Given the description of an element on the screen output the (x, y) to click on. 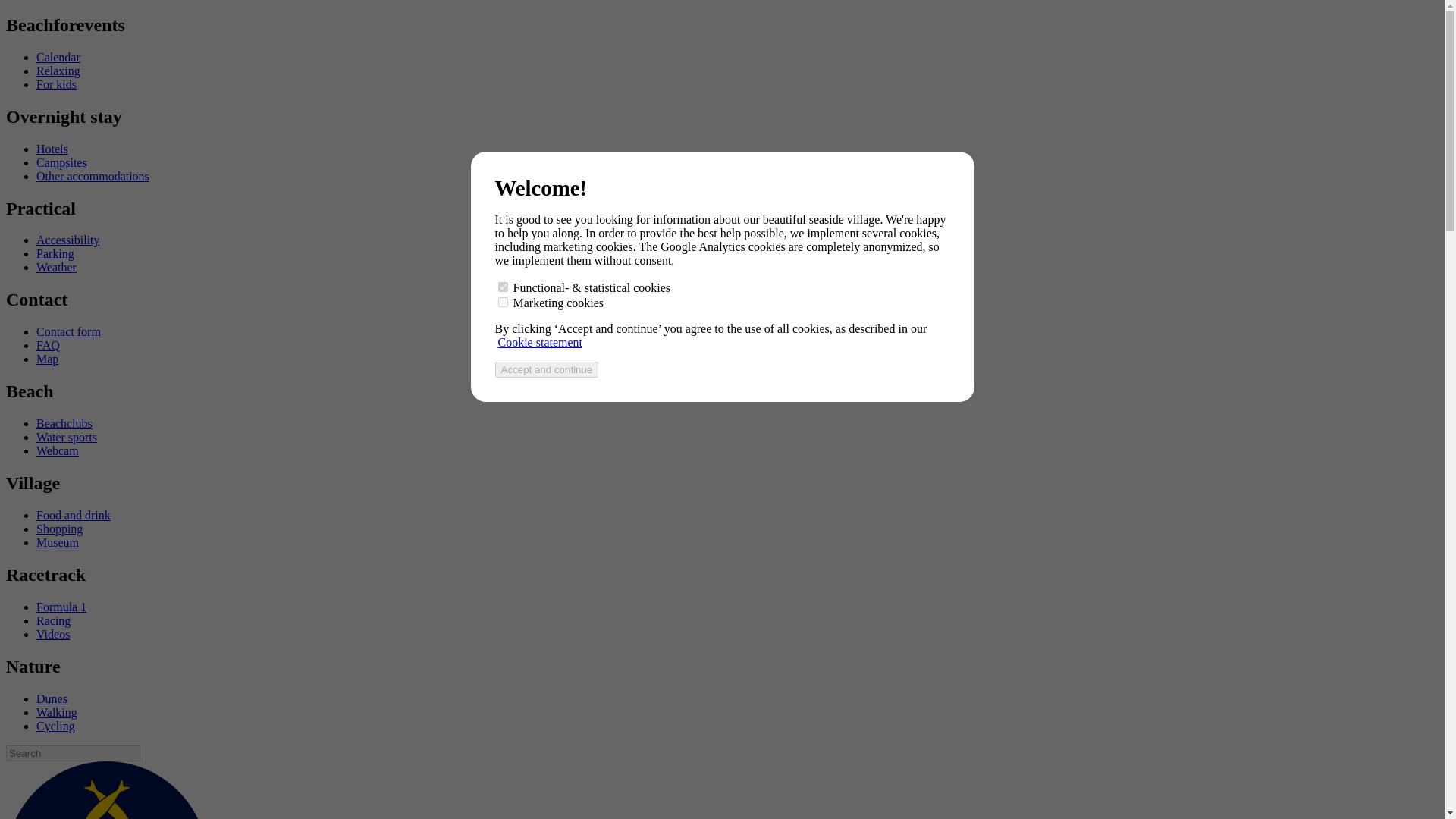
Food and drink (73, 514)
Map (47, 358)
Museum (57, 542)
Campsites (61, 162)
Racing (52, 620)
Water sports (66, 436)
Accessibility (68, 239)
Calendar (58, 56)
Hotels (52, 148)
Accept and continue (546, 369)
